Given the description of an element on the screen output the (x, y) to click on. 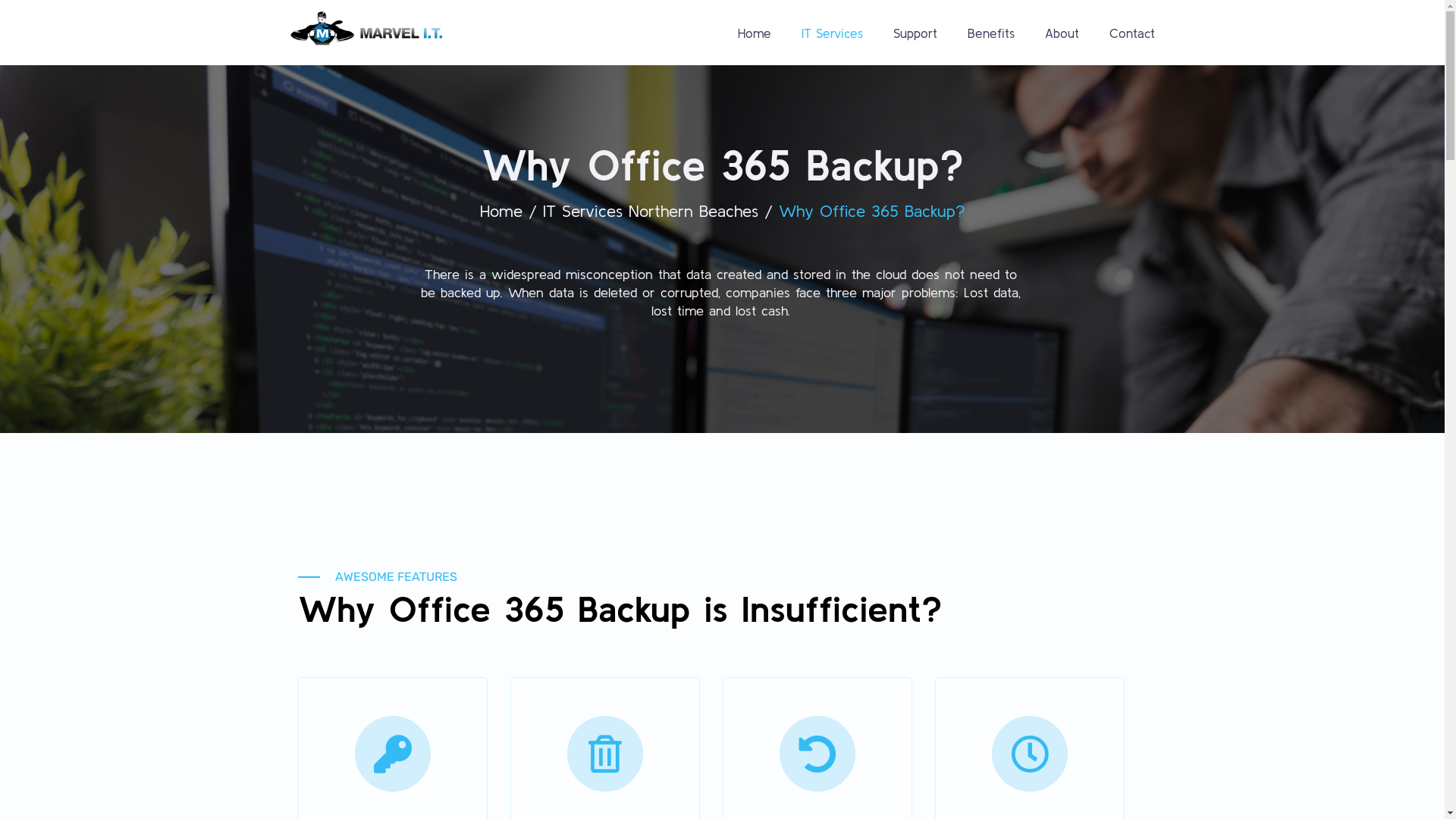
Benefits Element type: text (990, 32)
About Element type: text (1061, 32)
Contact Element type: text (1131, 32)
IT Services Northern Beaches Element type: text (650, 210)
Home Element type: text (500, 210)
Support Element type: text (915, 32)
IT Services Element type: text (831, 32)
Home Element type: text (753, 32)
